Given the description of an element on the screen output the (x, y) to click on. 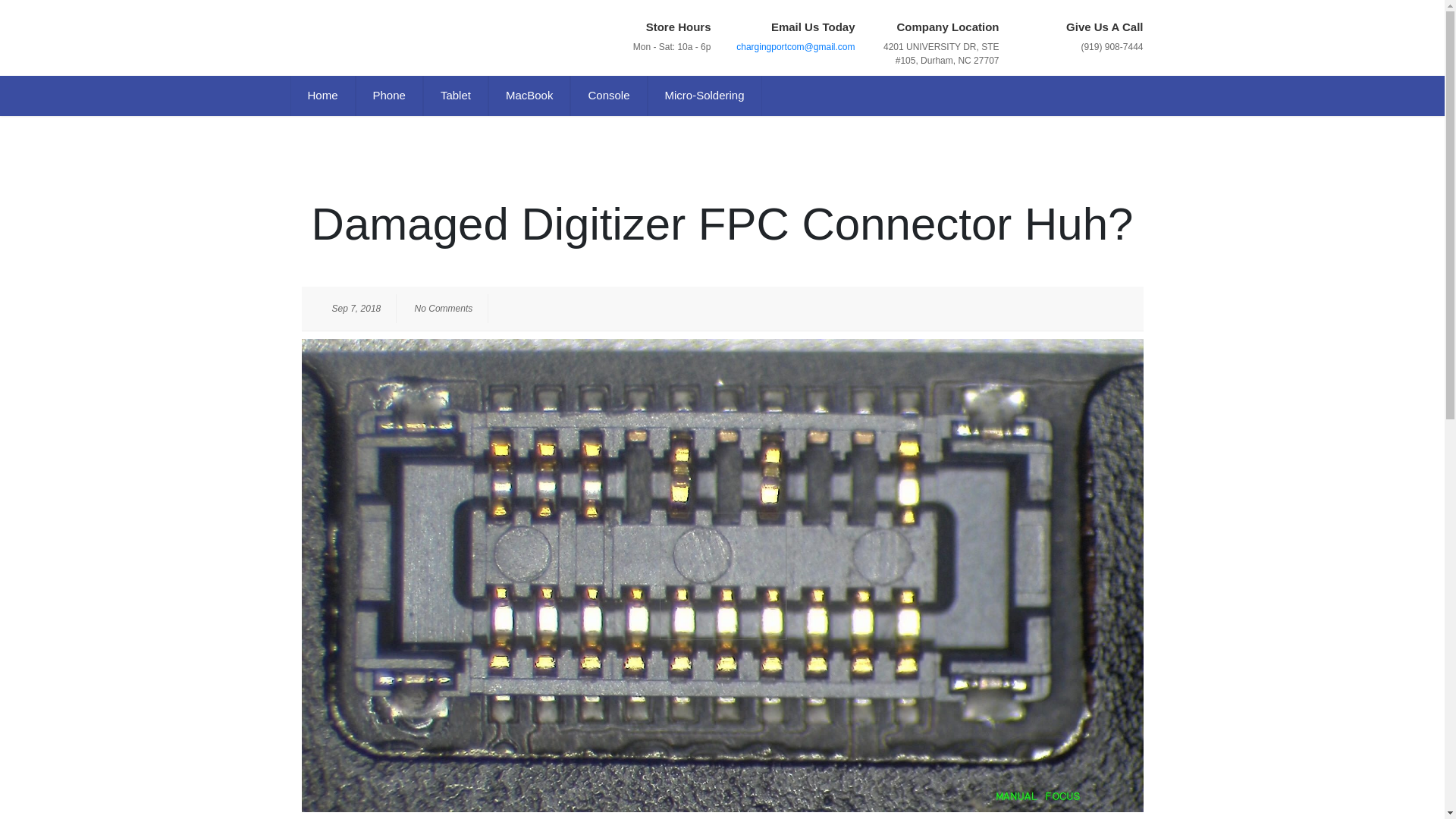
Phone (389, 96)
Micro-Soldering (704, 96)
MacBook (528, 96)
Console (608, 96)
Home (322, 96)
Tablet (455, 96)
